Given the description of an element on the screen output the (x, y) to click on. 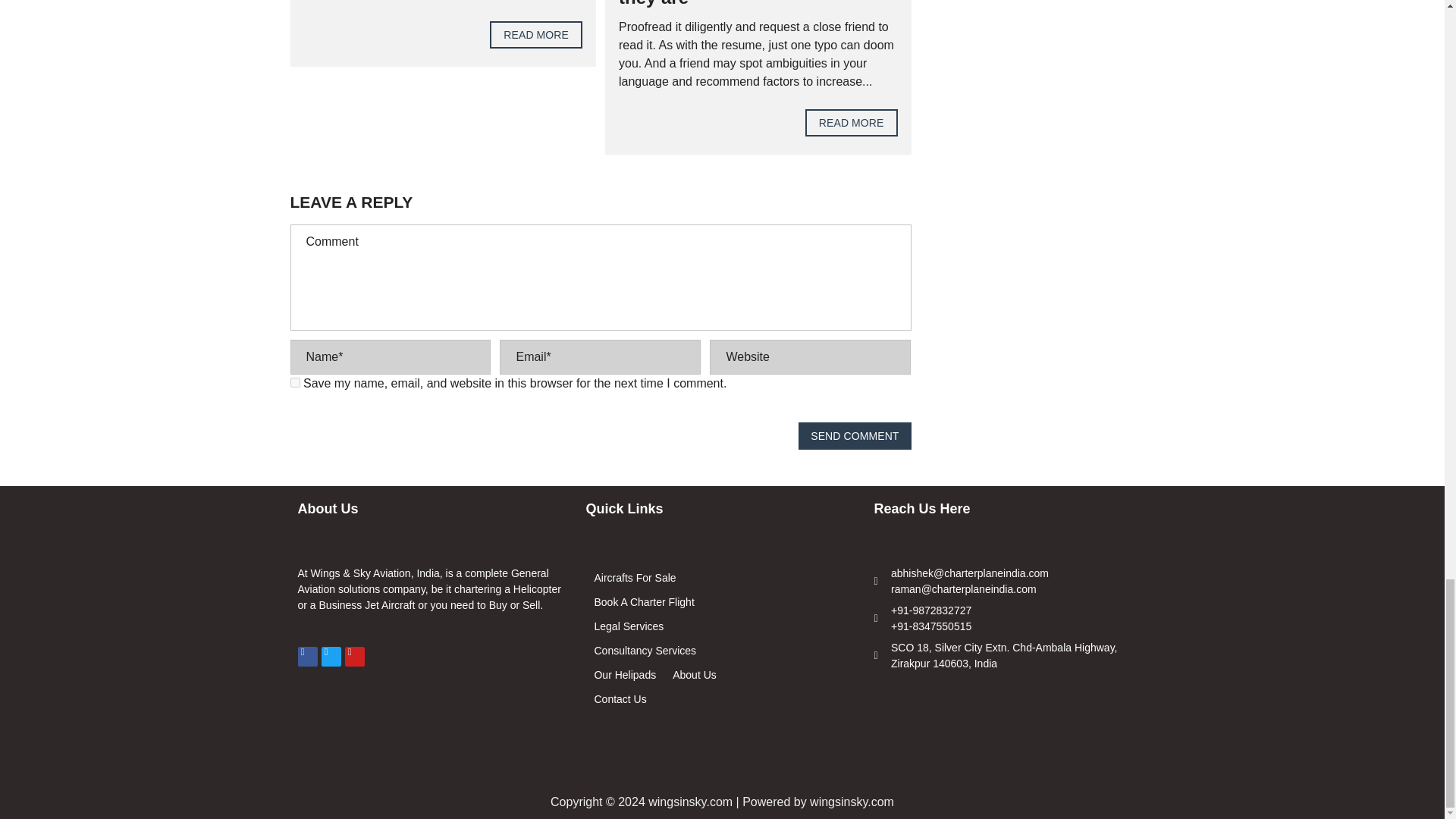
yes (294, 382)
READ MORE (535, 34)
SEND COMMENT (854, 435)
READ MORE (851, 122)
